Given the description of an element on the screen output the (x, y) to click on. 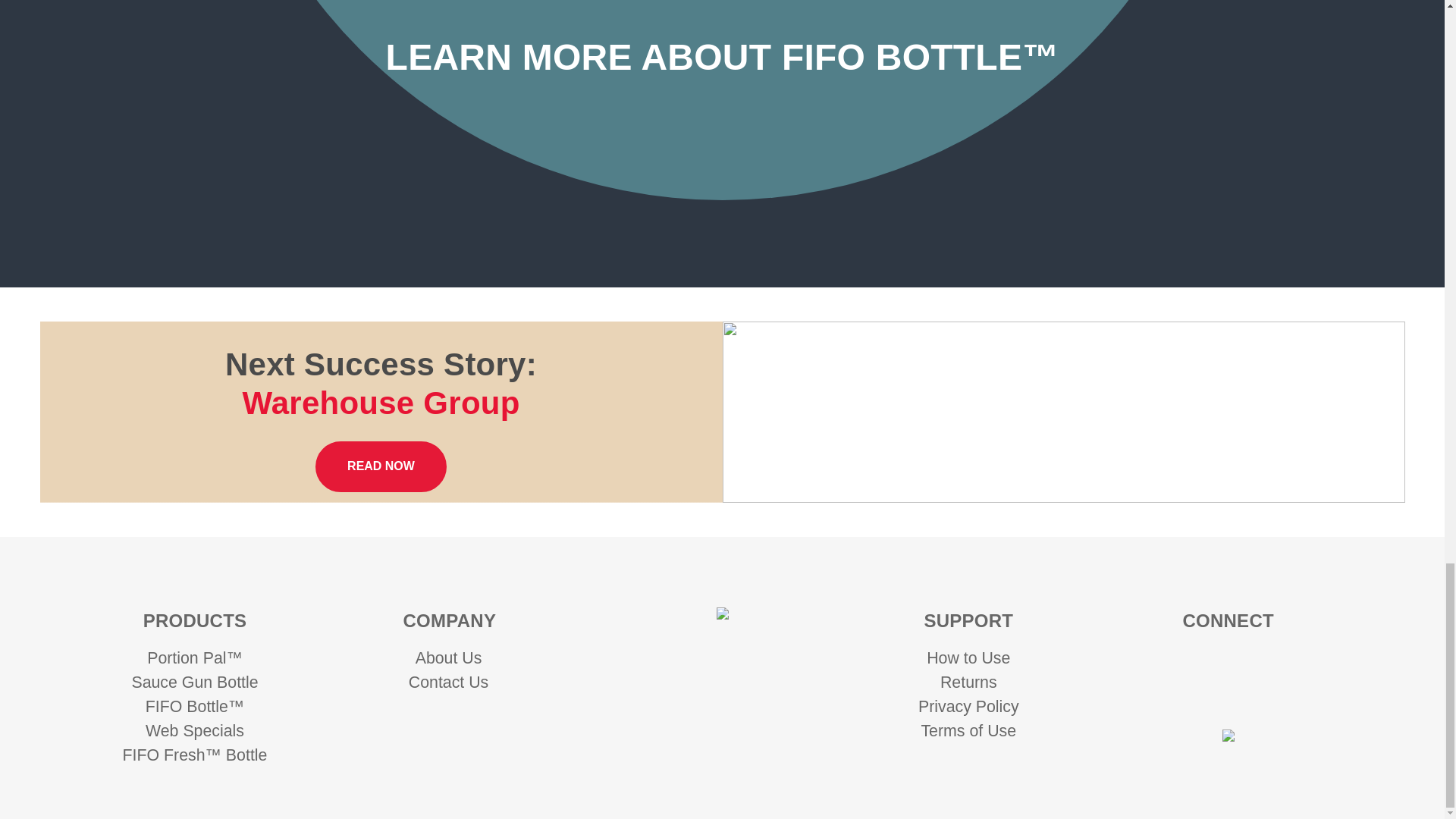
Linkedin (1228, 663)
READ NOW (380, 466)
X (1250, 695)
Instagram (1183, 663)
Sauce Gun Bottle (194, 682)
Youtube (1272, 663)
Facebook (1205, 695)
